Given the description of an element on the screen output the (x, y) to click on. 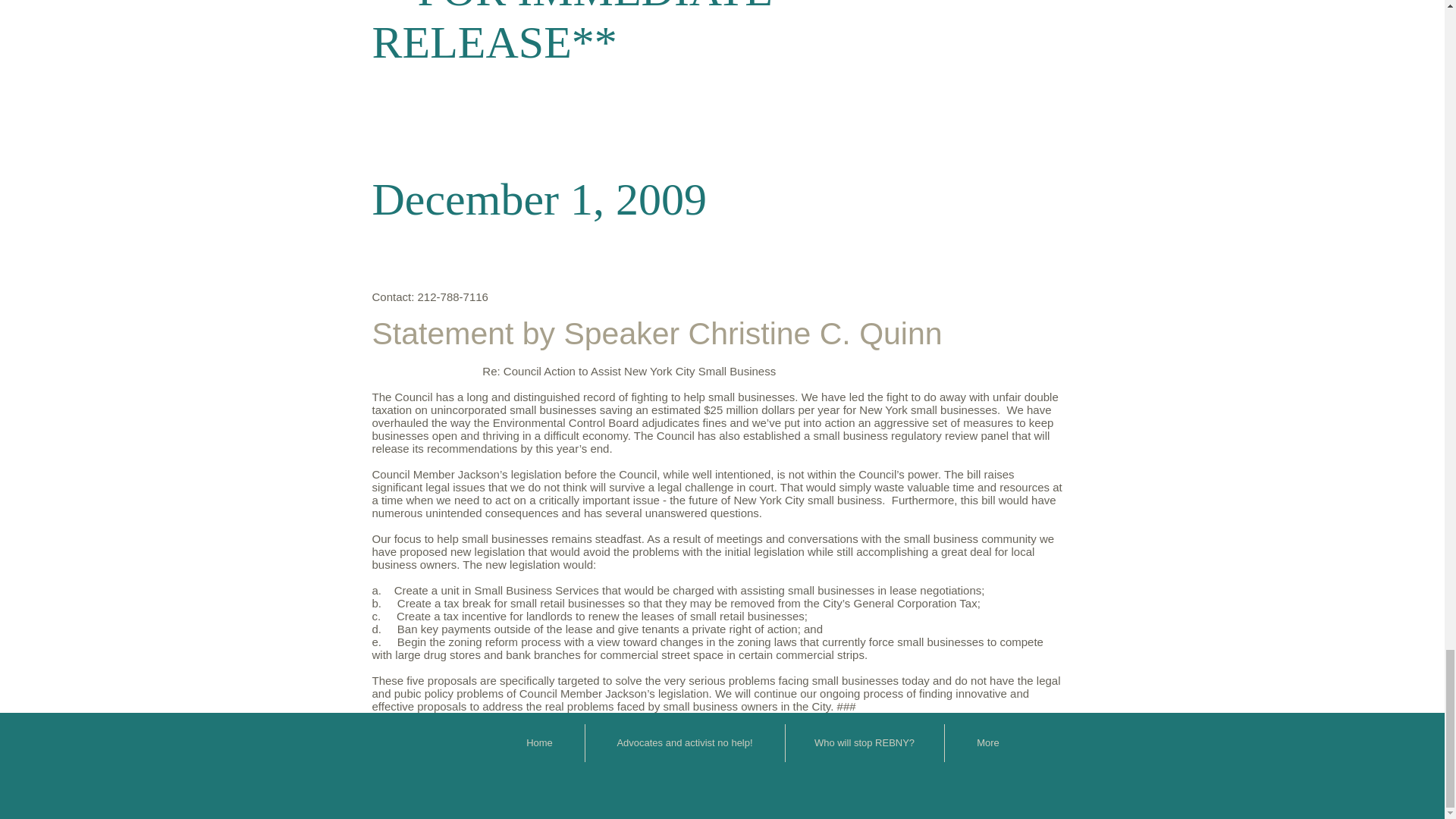
Home (539, 742)
Who will stop REBNY? (864, 742)
Advocates and activist no help! (684, 742)
